Given the description of an element on the screen output the (x, y) to click on. 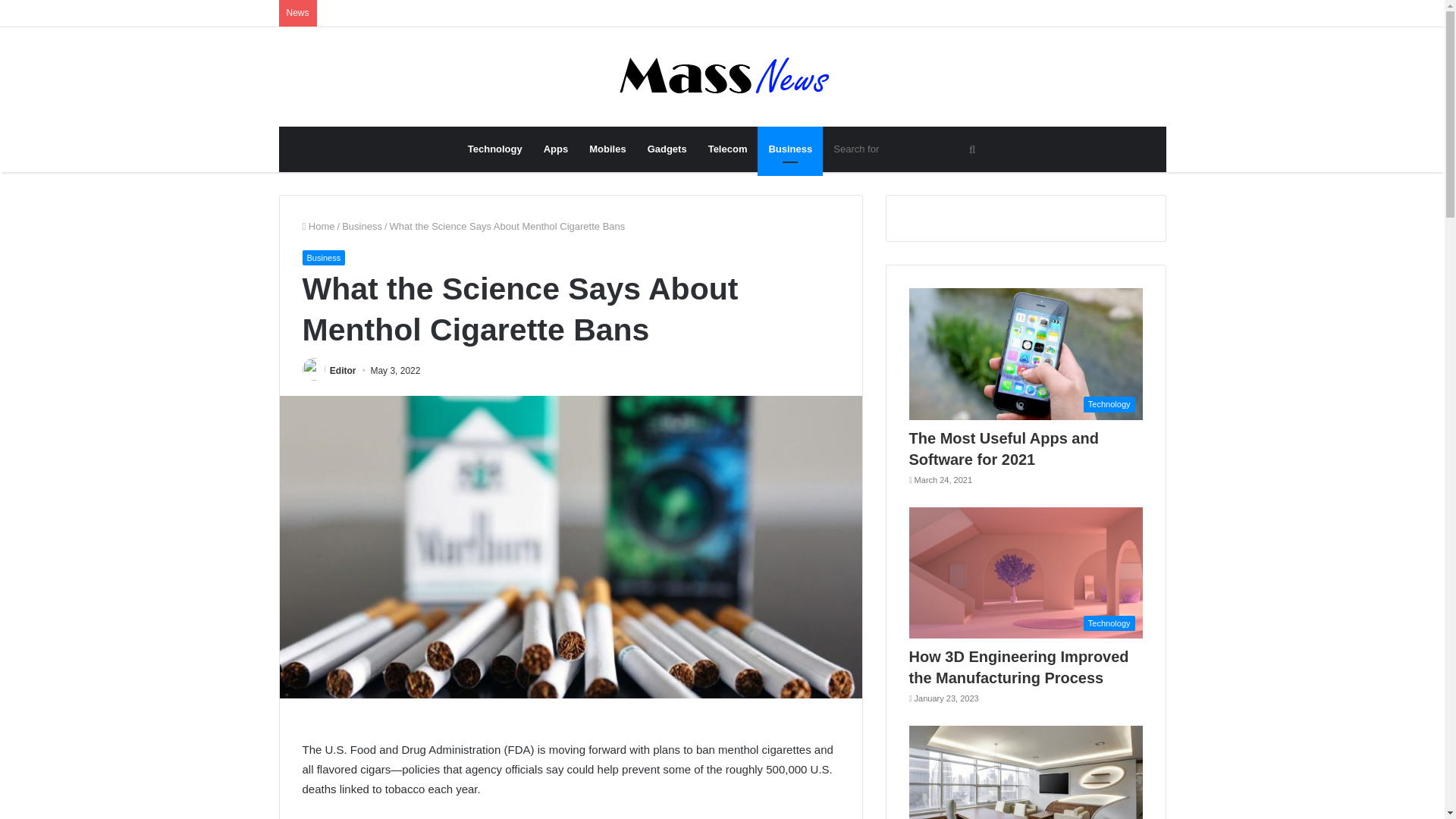
Apps (555, 148)
Mass News (721, 76)
Home (317, 225)
Search for (905, 148)
Telecom (727, 148)
Business (323, 257)
Editor (343, 370)
Technology (494, 148)
Business (789, 148)
Gadgets (667, 148)
